Given the description of an element on the screen output the (x, y) to click on. 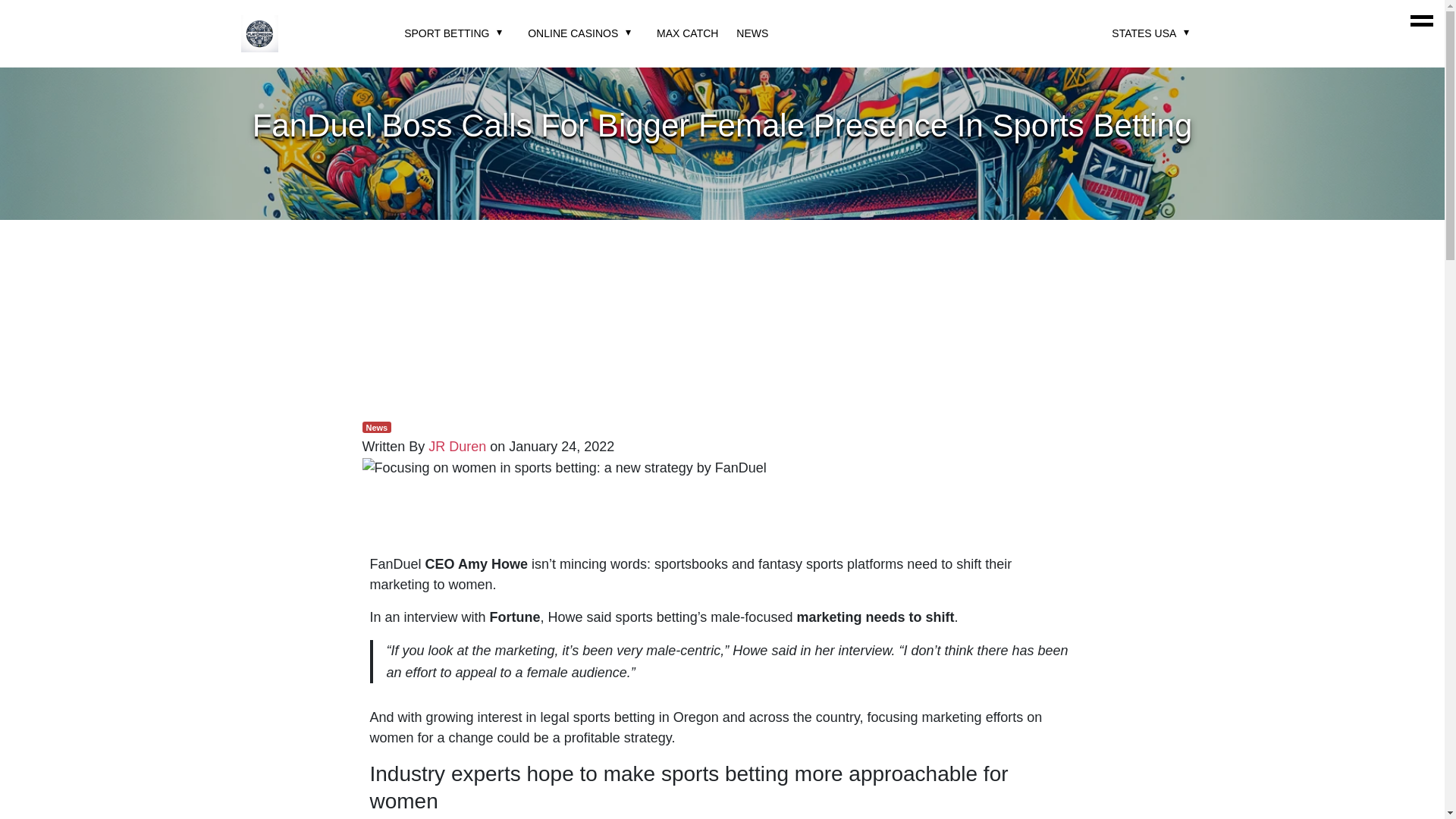
JR Duren (457, 446)
sports betting in Oregon (646, 717)
News (376, 427)
NEWS (752, 33)
ONLINE CASINOS (572, 33)
MAX CATCH (686, 33)
SPORT BETTING (446, 33)
STATES USA (1143, 33)
